Given the description of an element on the screen output the (x, y) to click on. 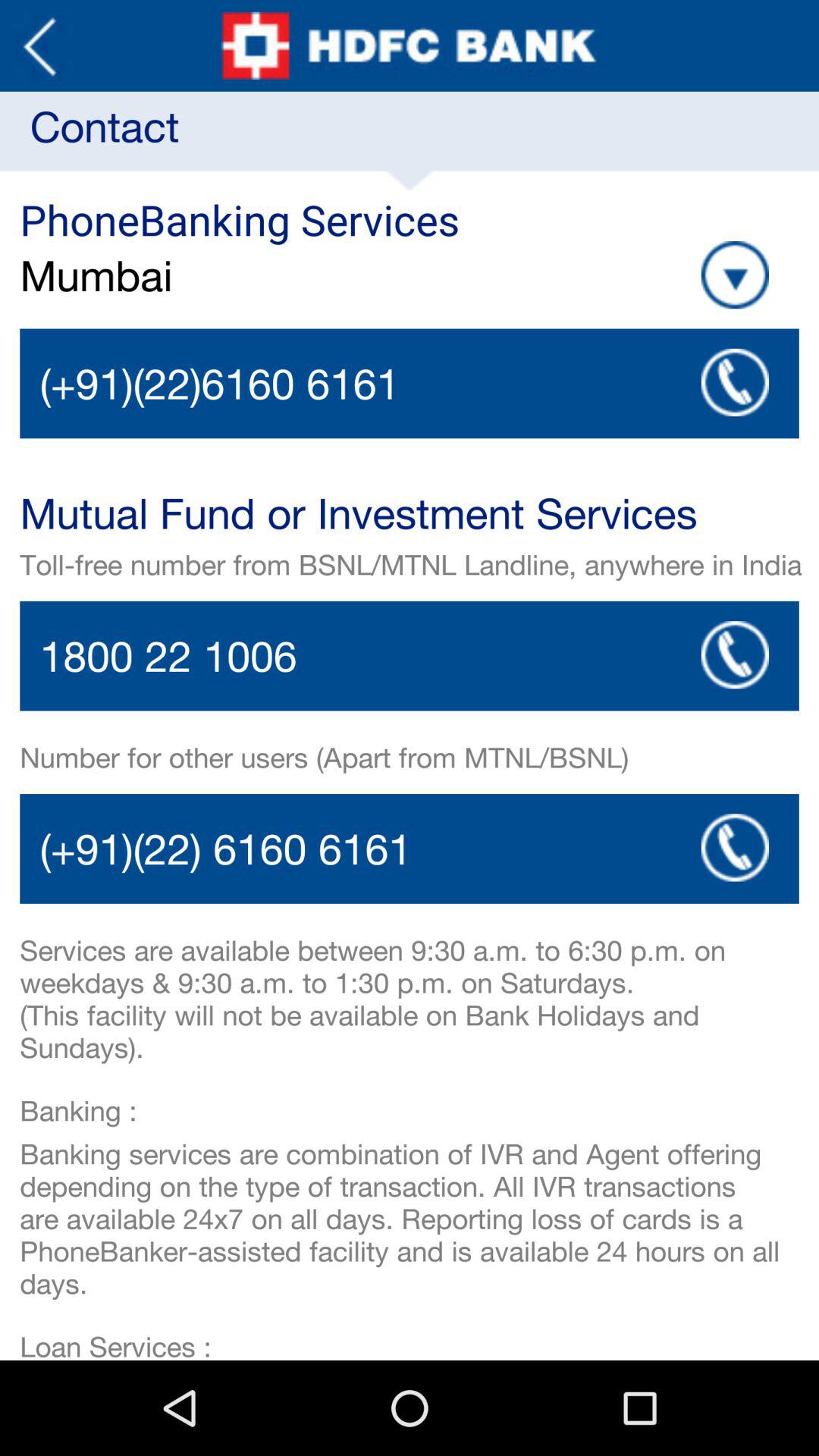
open the app below the toll free number icon (734, 654)
